Given the description of an element on the screen output the (x, y) to click on. 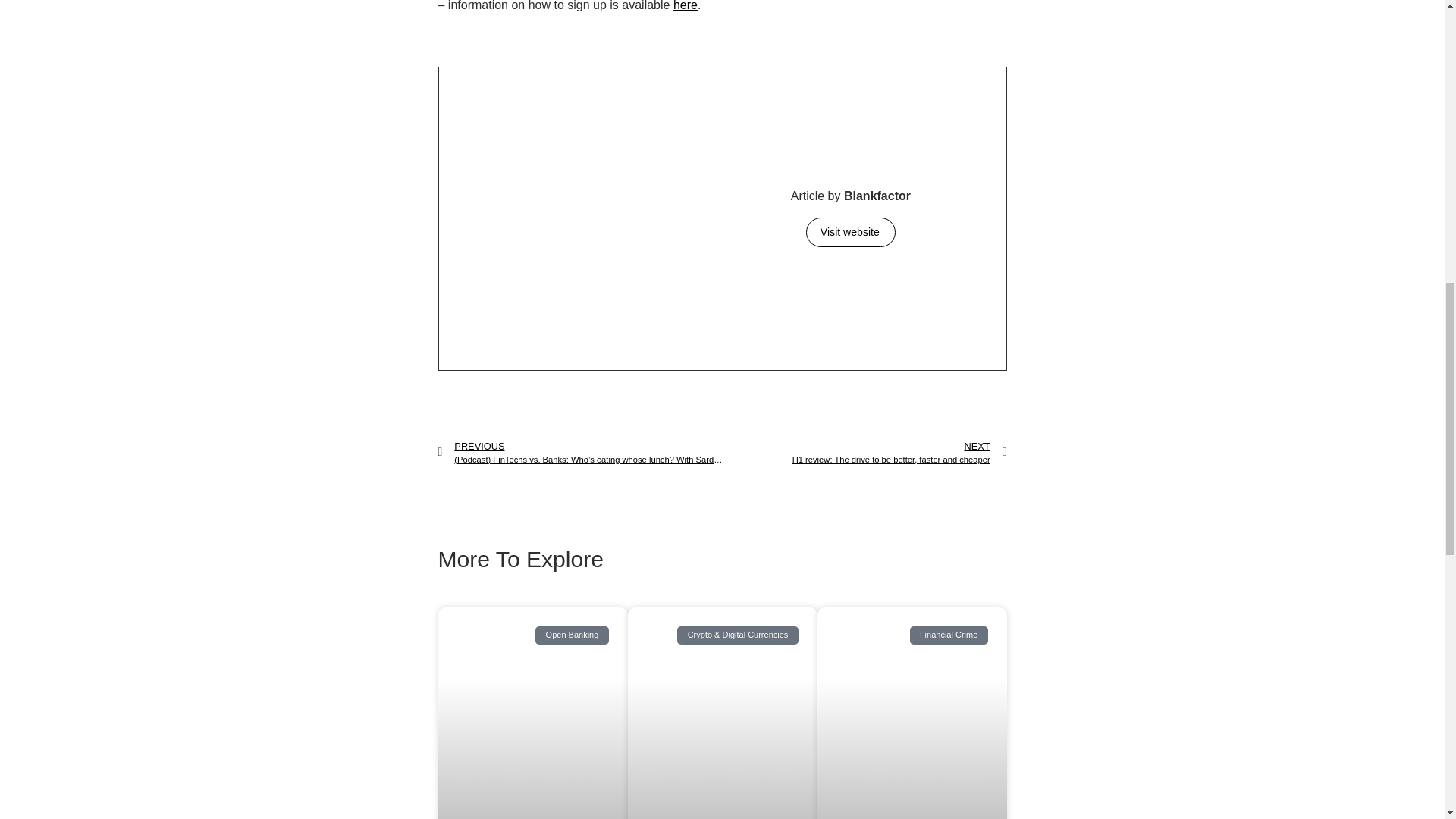
Visit website (850, 232)
here (864, 452)
